Given the description of an element on the screen output the (x, y) to click on. 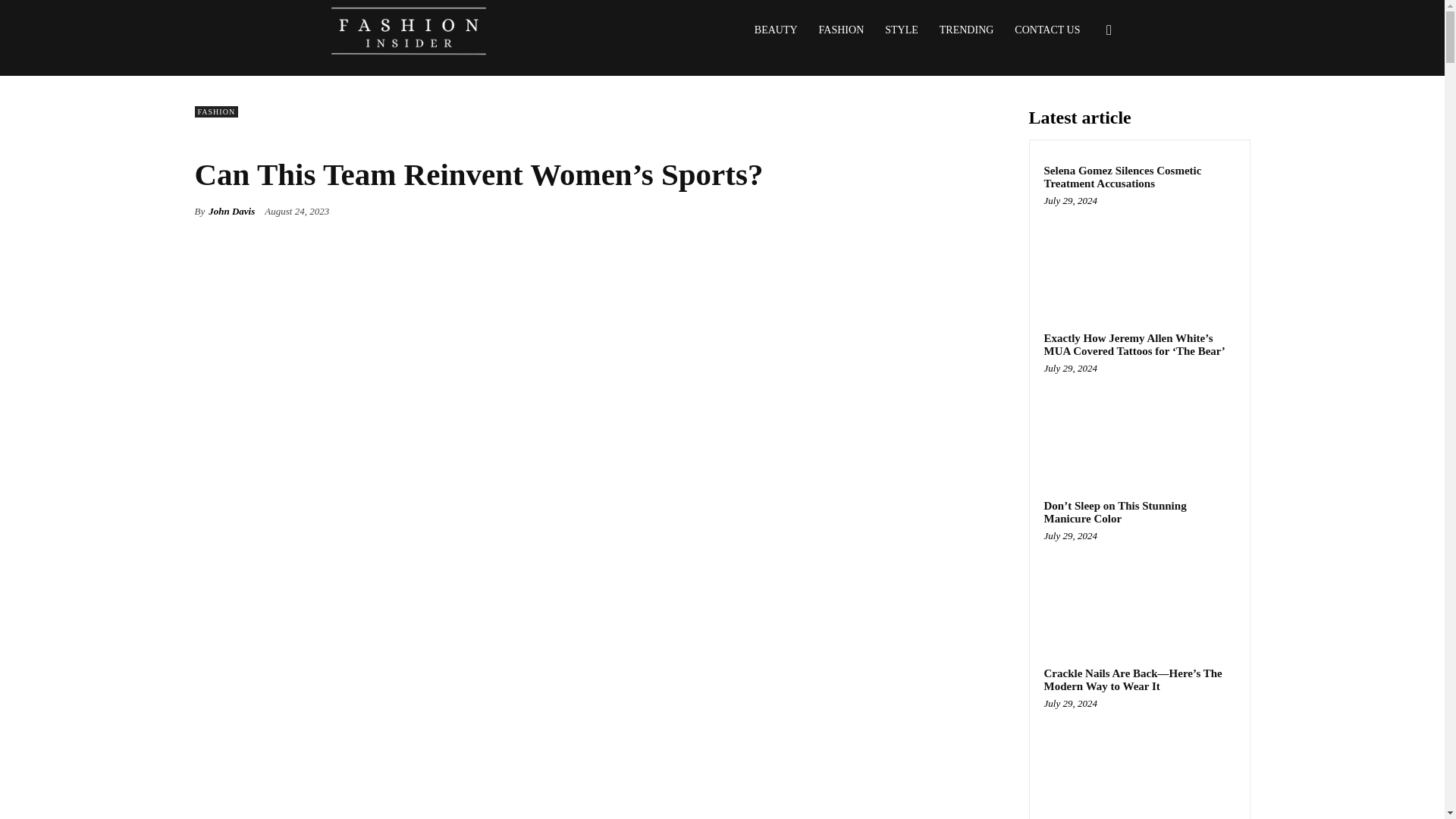
CONTACT US (1047, 30)
STYLE (901, 30)
Search (1085, 102)
Fashion Insider Mag (408, 30)
TRENDING (966, 30)
FASHION (215, 111)
BEAUTY (776, 30)
John Davis (231, 211)
FASHION (841, 30)
